Given the description of an element on the screen output the (x, y) to click on. 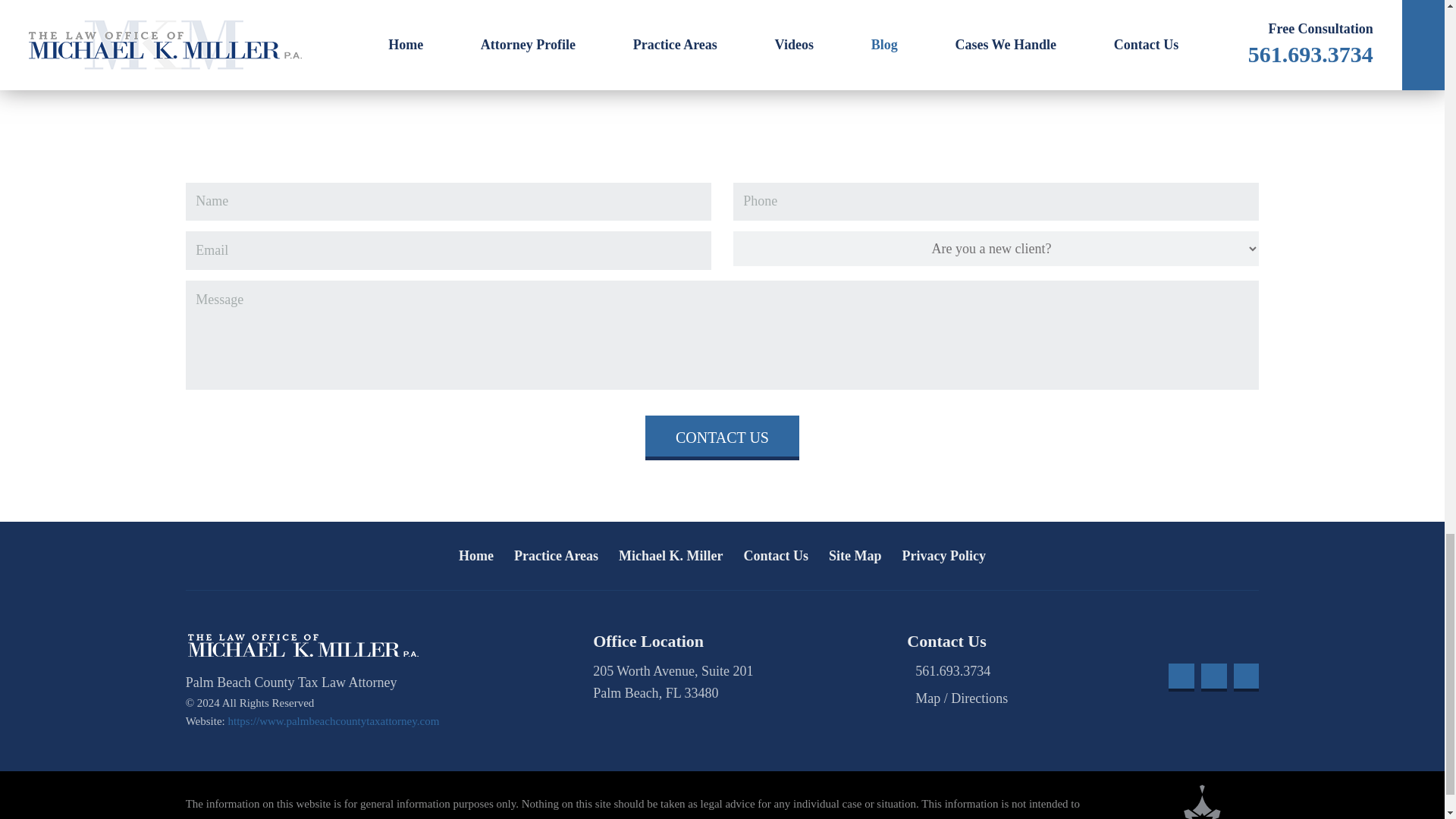
The Law Office of Michael K. Miller, P.A. (304, 645)
Scorpion Legal Internet Marketing (1202, 801)
